Given the description of an element on the screen output the (x, y) to click on. 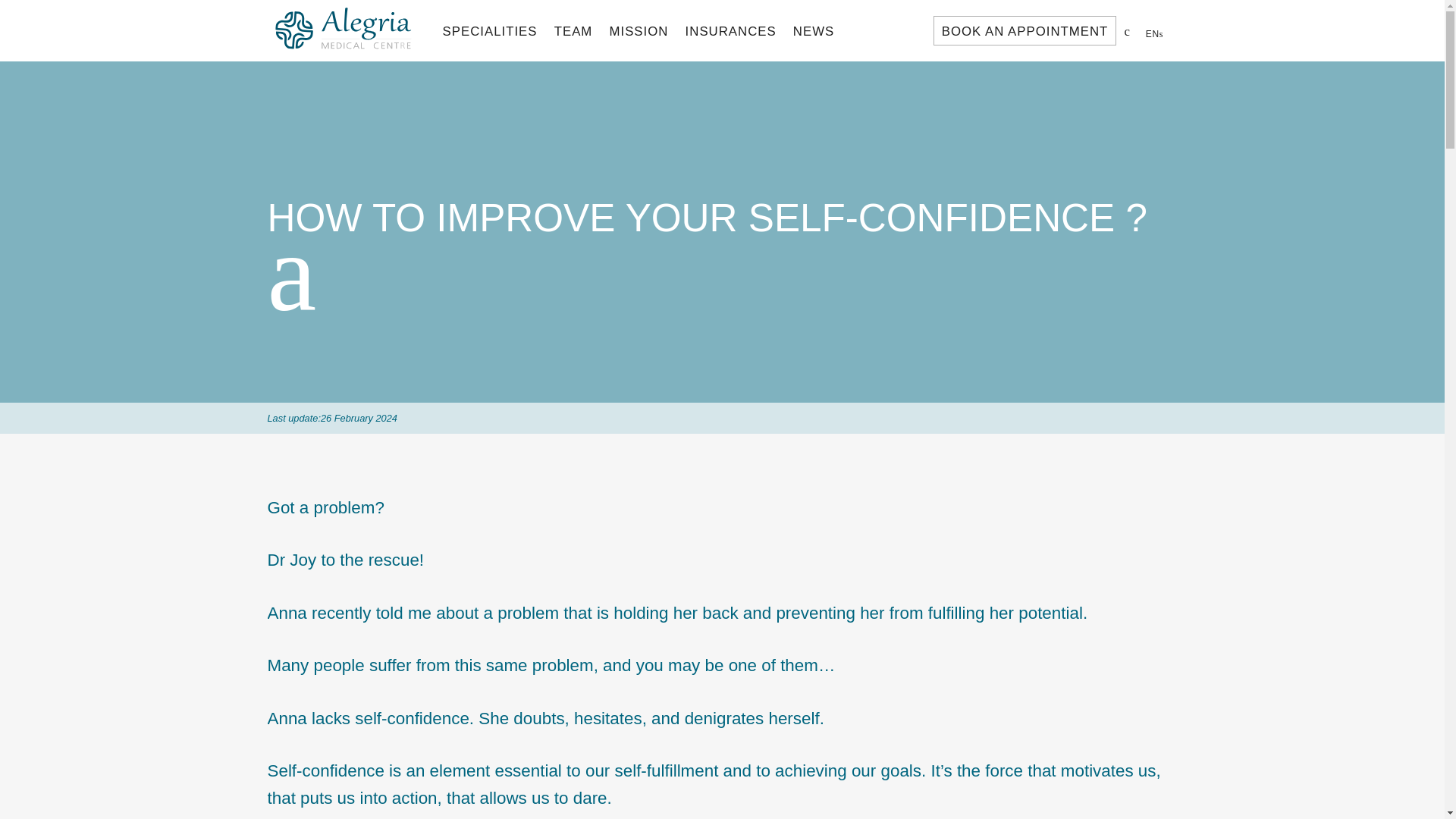
BOOK AN APPOINTMENT (1024, 30)
EN (1157, 32)
TEAM (573, 30)
MISSION (638, 30)
NEWS (813, 30)
INSURANCES (730, 30)
EN (1157, 32)
SPECIALITIES (488, 30)
